Given the description of an element on the screen output the (x, y) to click on. 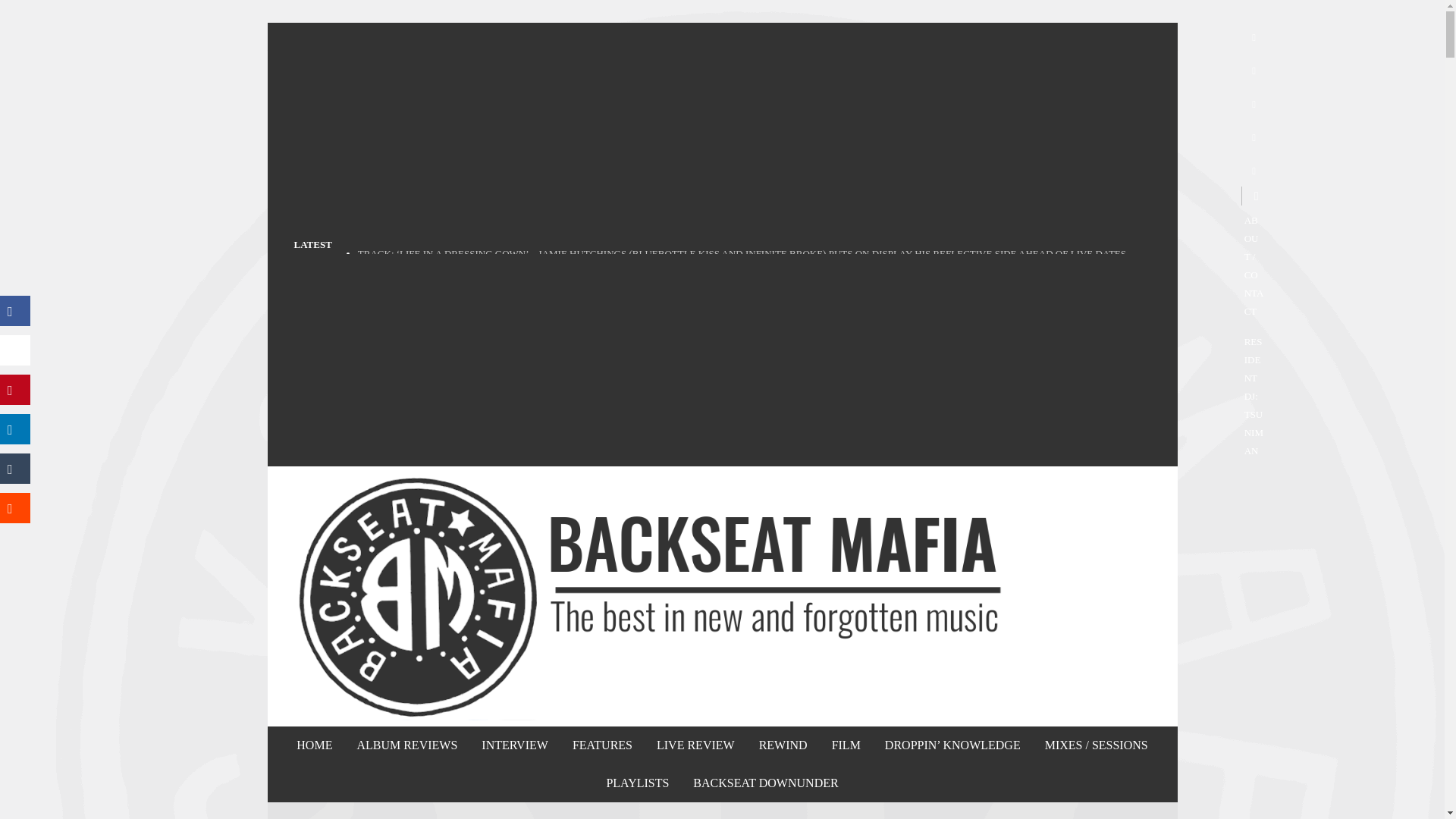
FILM (845, 745)
LIVE REVIEW (695, 745)
REWIND (782, 745)
ALBUM REVIEWS (405, 745)
INTERVIEW (514, 745)
FEATURES (602, 745)
HOME (313, 745)
PLAYLISTS (637, 783)
